Given the description of an element on the screen output the (x, y) to click on. 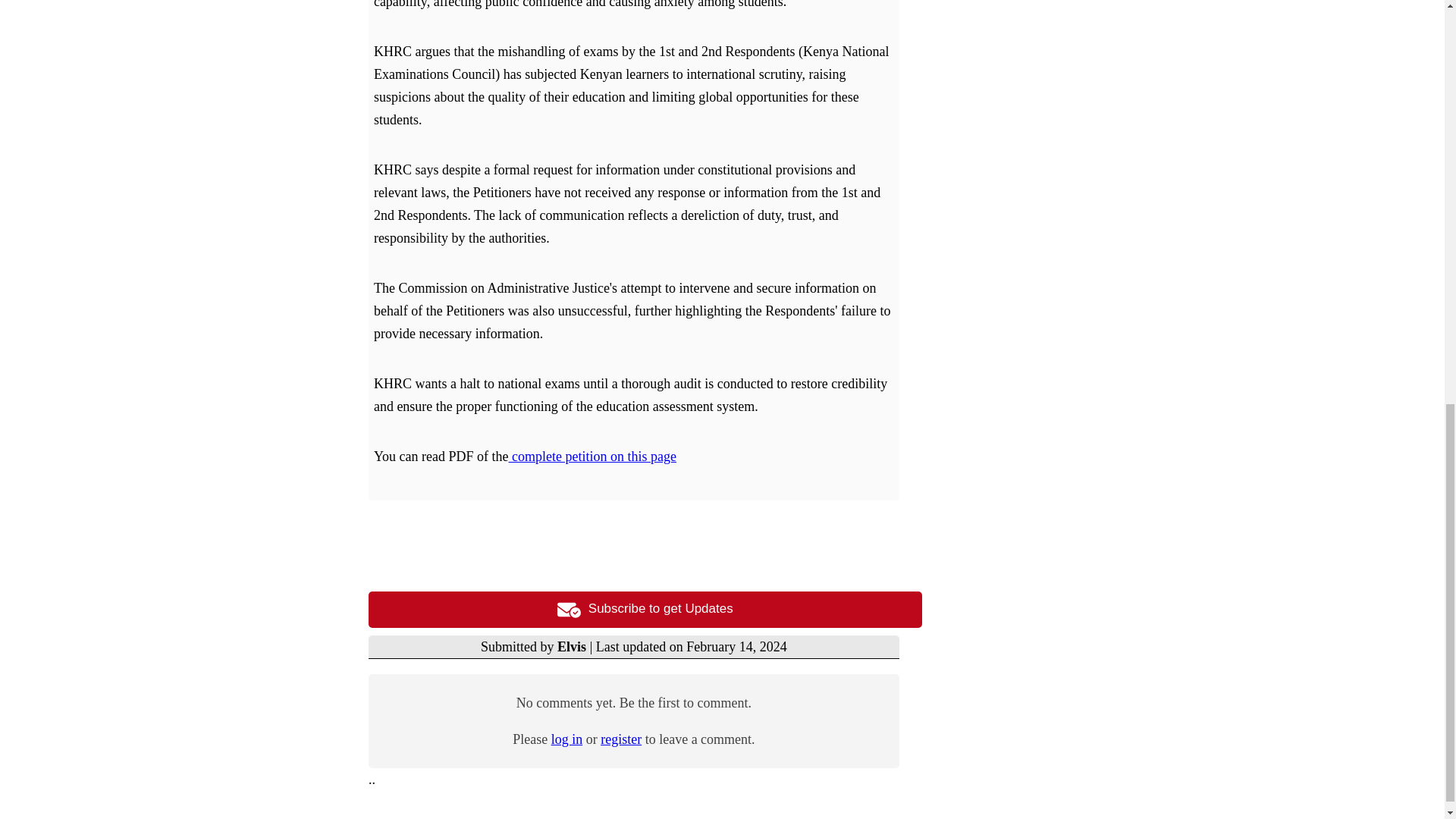
Subscribe to get Updates (644, 609)
register (620, 739)
complete petition on this page (592, 456)
log in (567, 739)
